Given the description of an element on the screen output the (x, y) to click on. 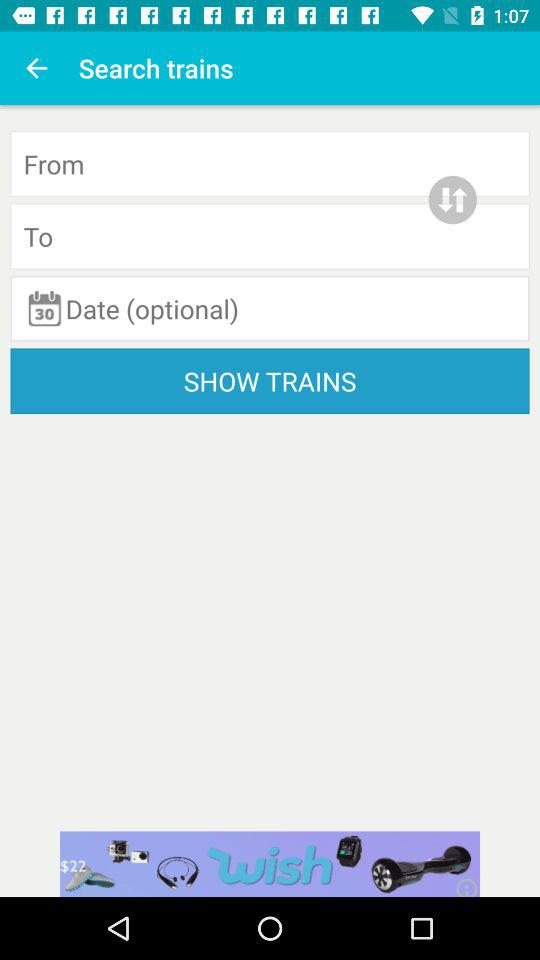
enter the destination (269, 236)
